Given the description of an element on the screen output the (x, y) to click on. 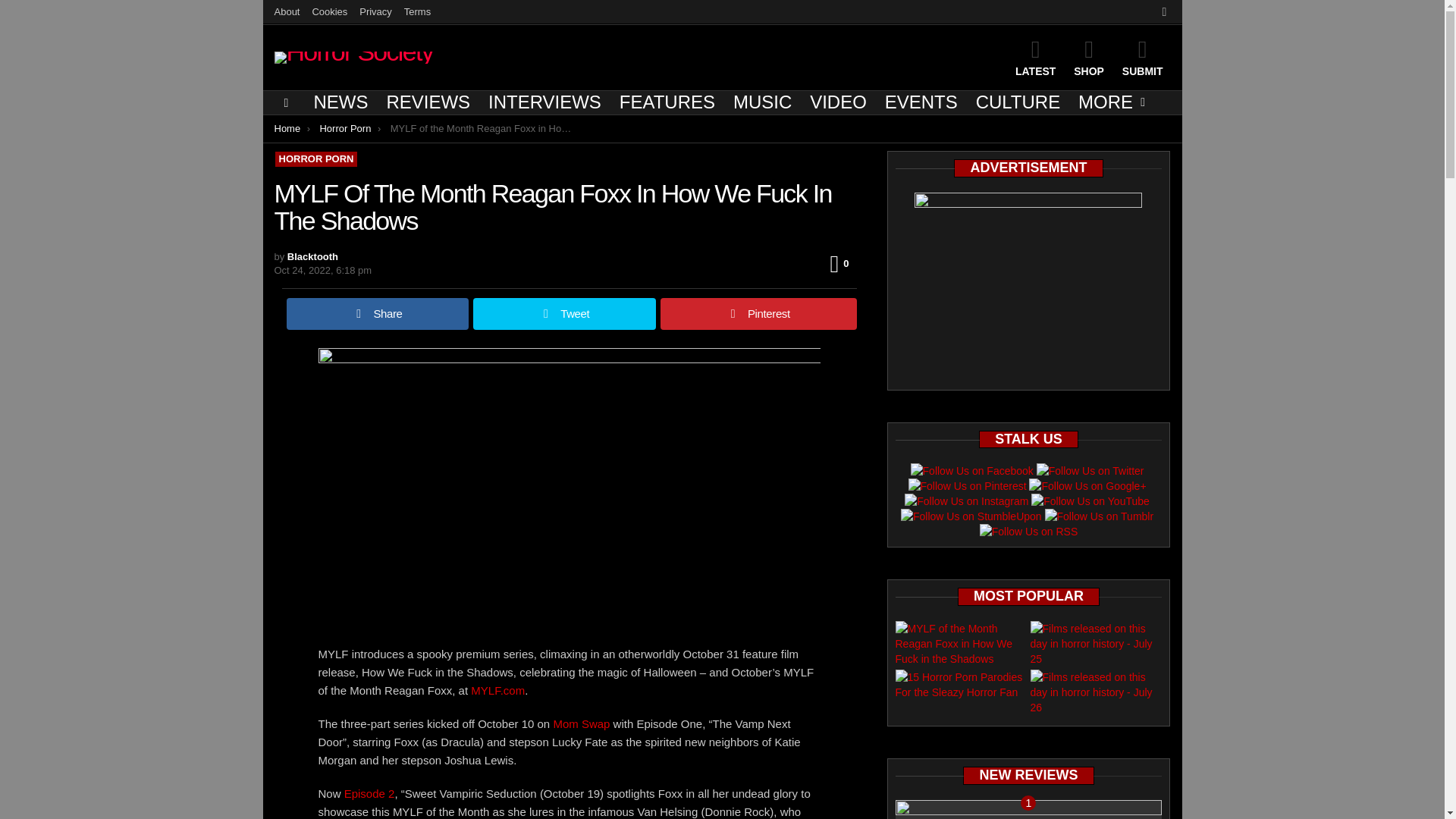
Follow Us on Instagram (965, 500)
EVENTS (921, 101)
Cookies (329, 12)
INTERVIEWS (544, 101)
Privacy (375, 12)
SEARCH (1163, 12)
Home (288, 128)
Follow Us on YouTube (1090, 500)
Menu (286, 103)
SUBMIT (1142, 56)
MORE (1107, 101)
Posts by Blacktooth (311, 256)
CULTURE (1018, 101)
VIDEO (838, 101)
Follow Us on Twitter (1090, 470)
